Given the description of an element on the screen output the (x, y) to click on. 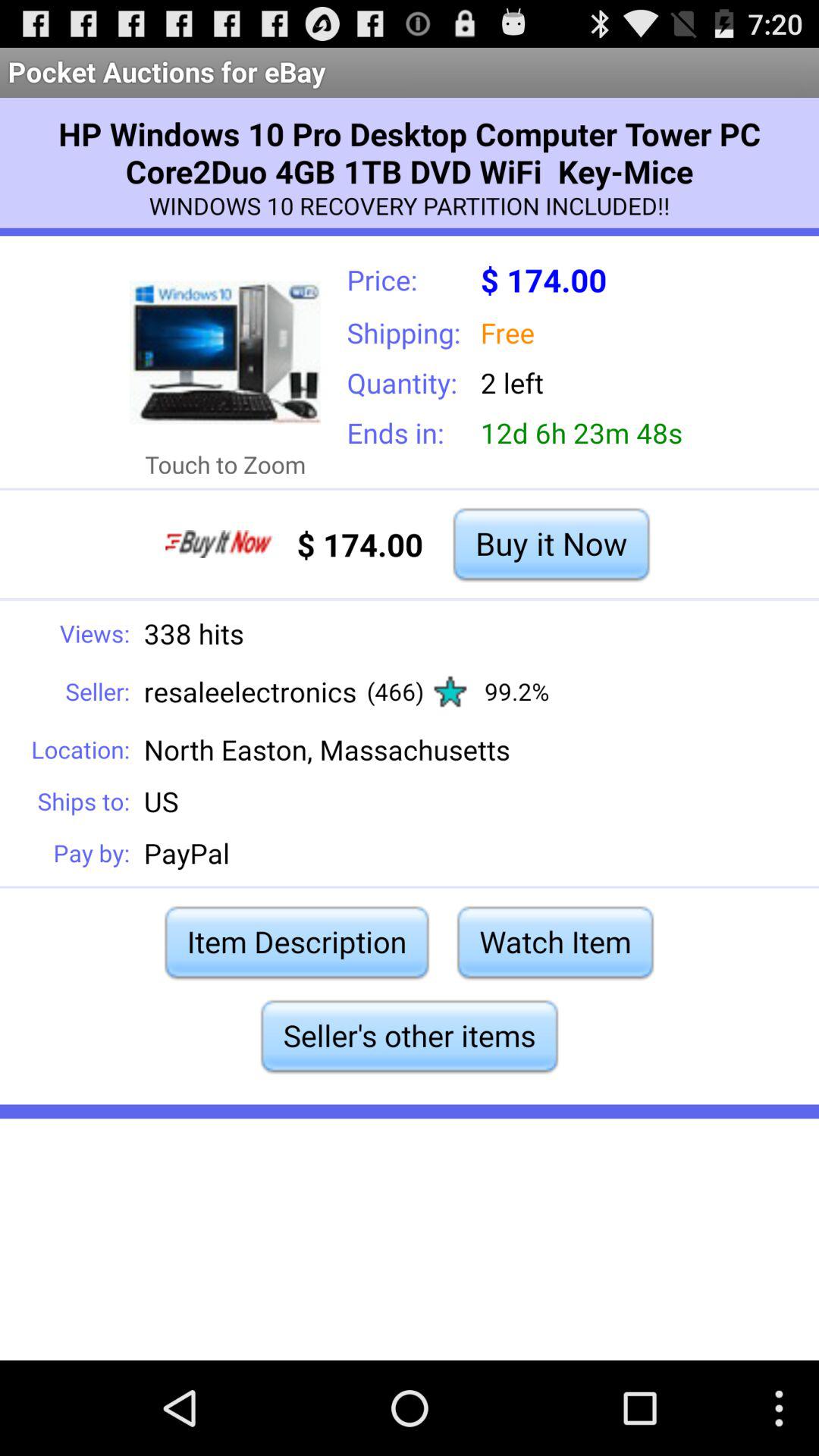
launch seller s other icon (409, 1036)
